Given the description of an element on the screen output the (x, y) to click on. 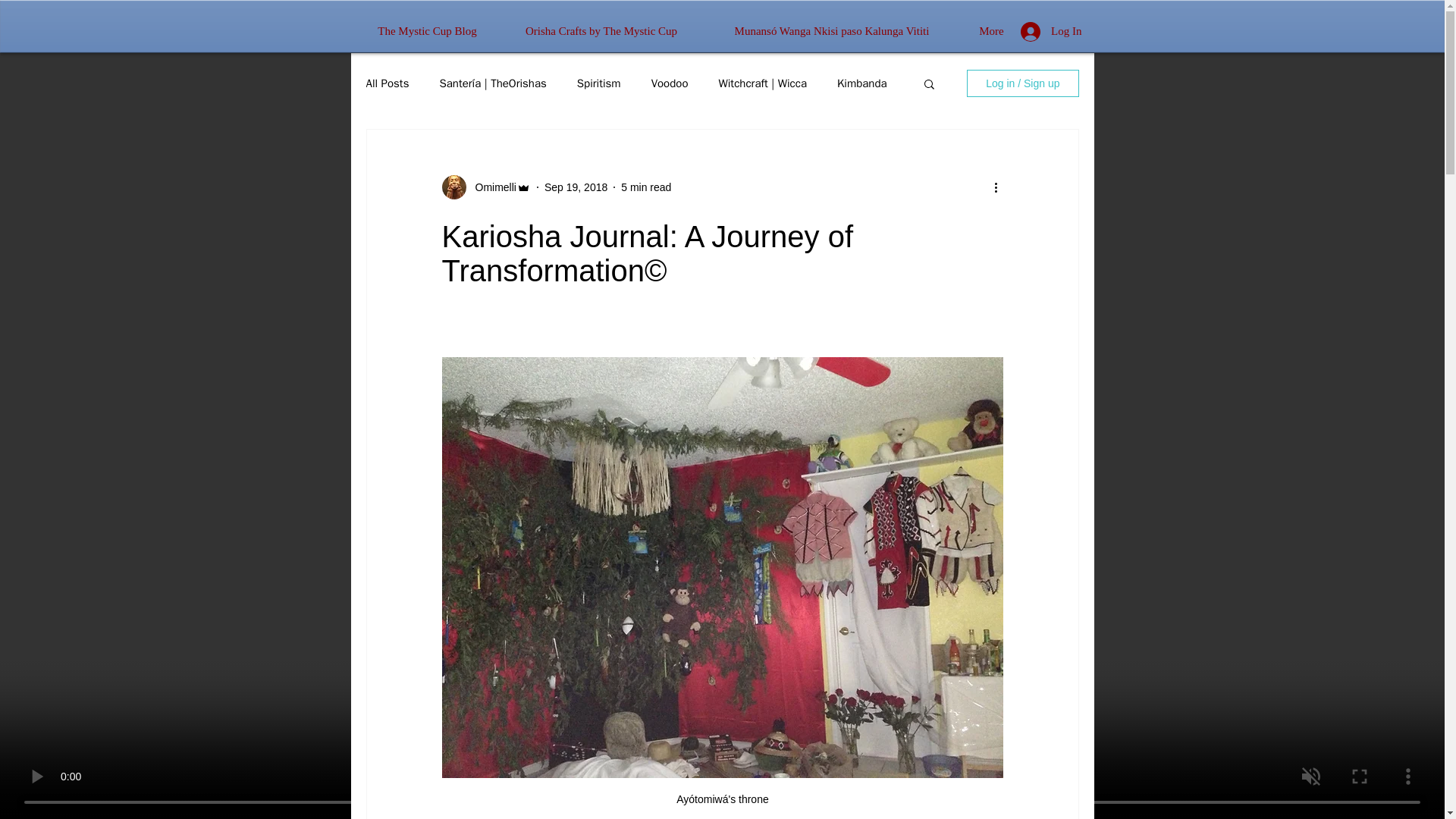
Sep 19, 2018 (575, 186)
Orisha Crafts by The Mystic Cup (601, 30)
Log In (1051, 30)
Kimbanda (861, 83)
5 min read (646, 186)
All Posts (387, 83)
Omimelli (490, 186)
Spiritism (598, 83)
The Mystic Cup Blog (427, 30)
Voodoo (669, 83)
